Given the description of an element on the screen output the (x, y) to click on. 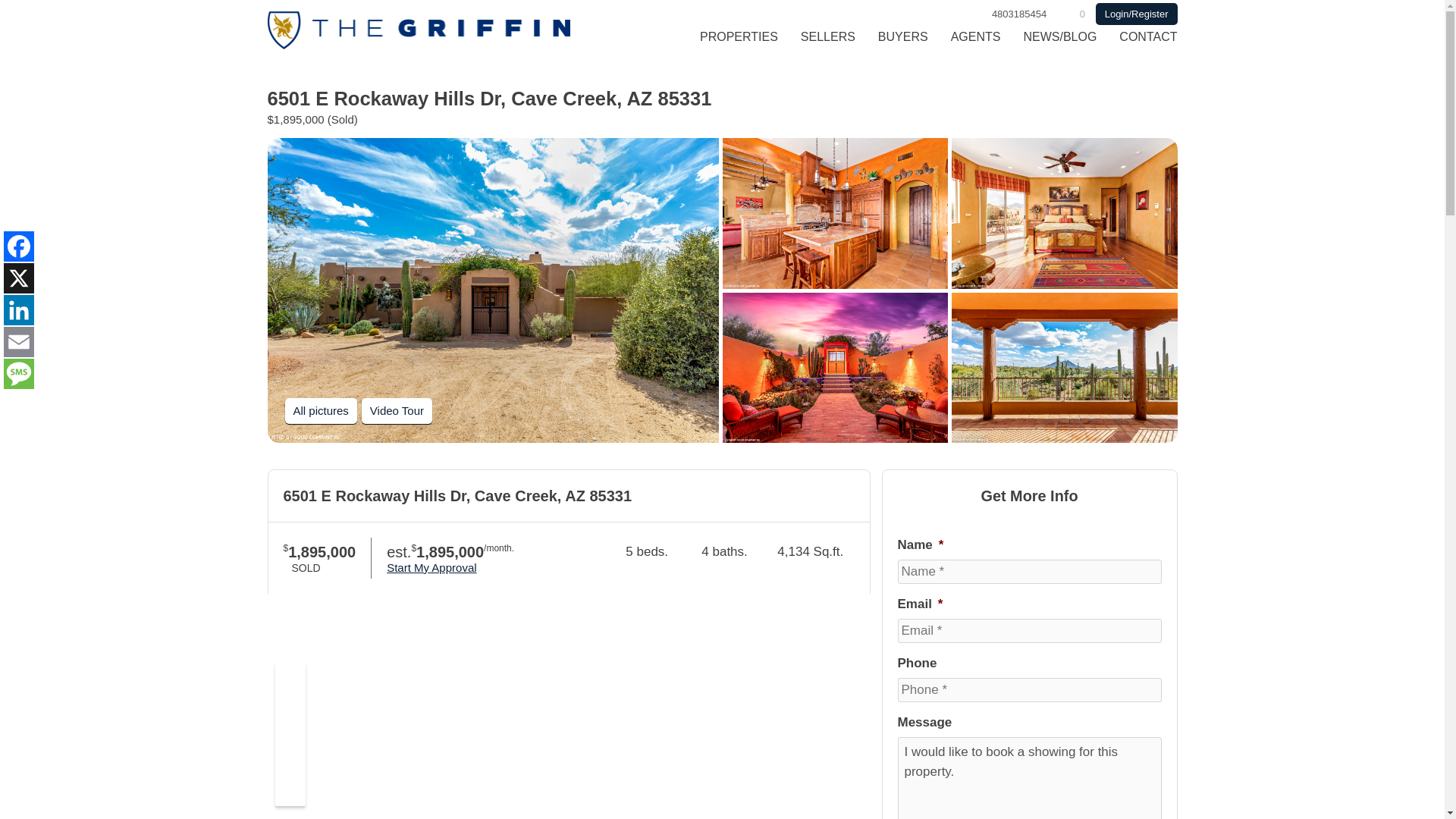
CONTACT (1142, 44)
CallUs (1018, 13)
AGENTS (975, 44)
4803185454 (1018, 13)
Grant Van Dyke (418, 44)
SELLERS (827, 44)
PROPERTIES (738, 44)
BUYERS (902, 44)
